Given the description of an element on the screen output the (x, y) to click on. 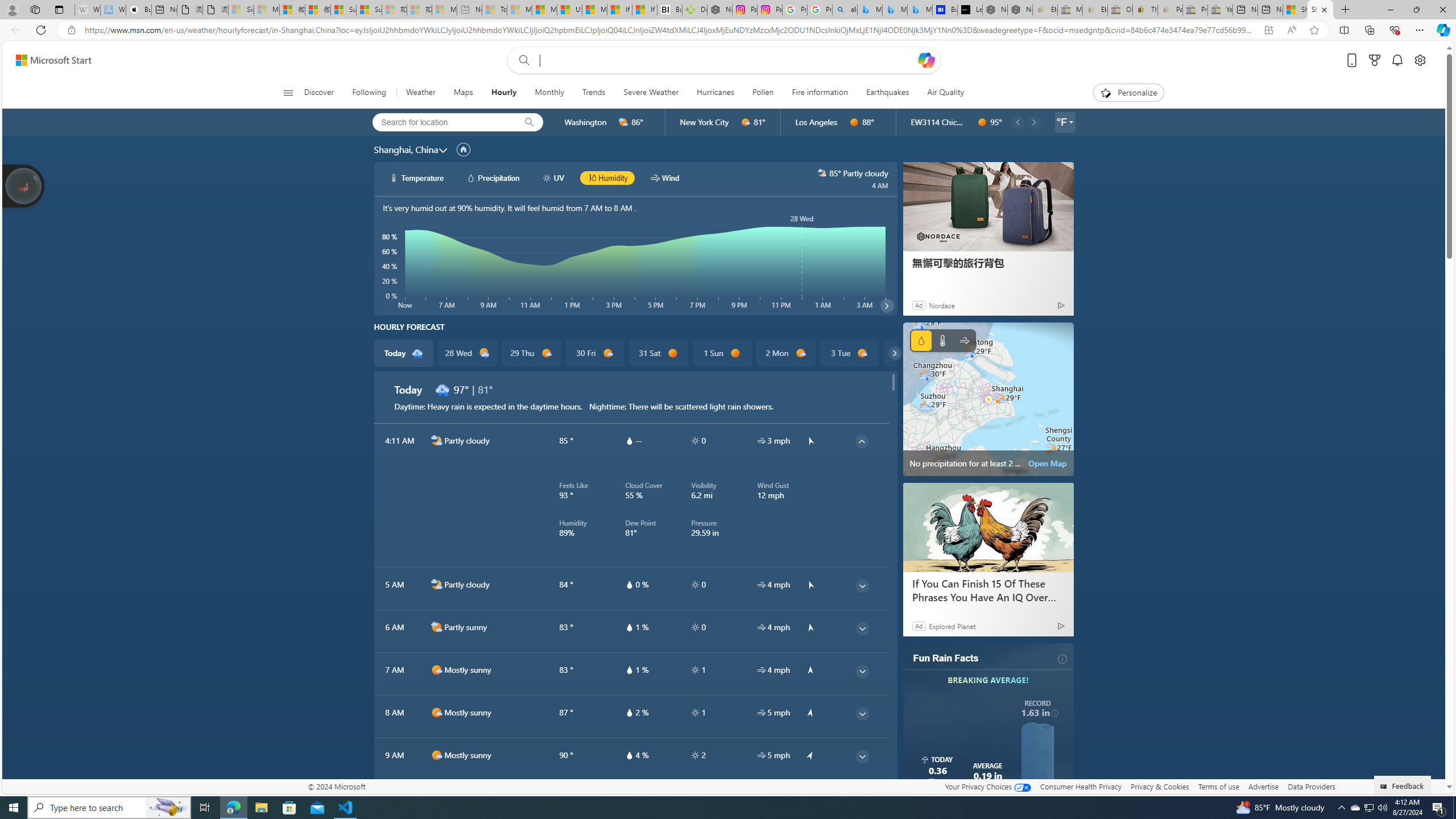
Sign in to your Microsoft account - Sleeping (241, 9)
Top Stories - MSN - Sleeping (494, 9)
locationName/setHomeLocation (462, 149)
locationBar/triangle (1070, 122)
Descarga Driver Updater (694, 9)
Marine life - MSN - Sleeping (519, 9)
Severe Weather (650, 92)
